Given the description of an element on the screen output the (x, y) to click on. 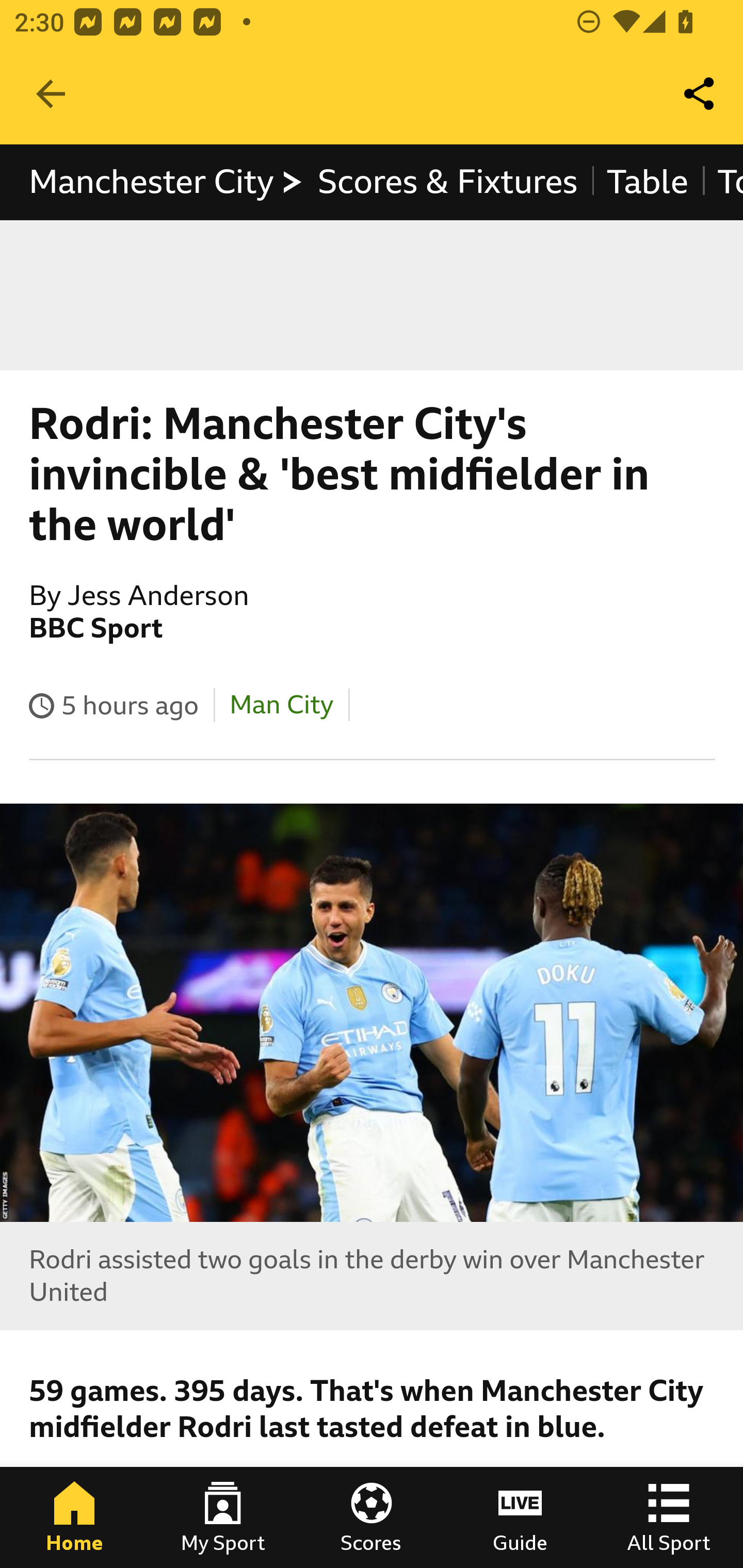
Navigate up (50, 93)
Share (699, 93)
Manchester City  (165, 181)
Scores & Fixtures (446, 181)
Table (646, 181)
Man City (280, 704)
My Sport (222, 1517)
Scores (371, 1517)
Guide (519, 1517)
All Sport (668, 1517)
